Given the description of an element on the screen output the (x, y) to click on. 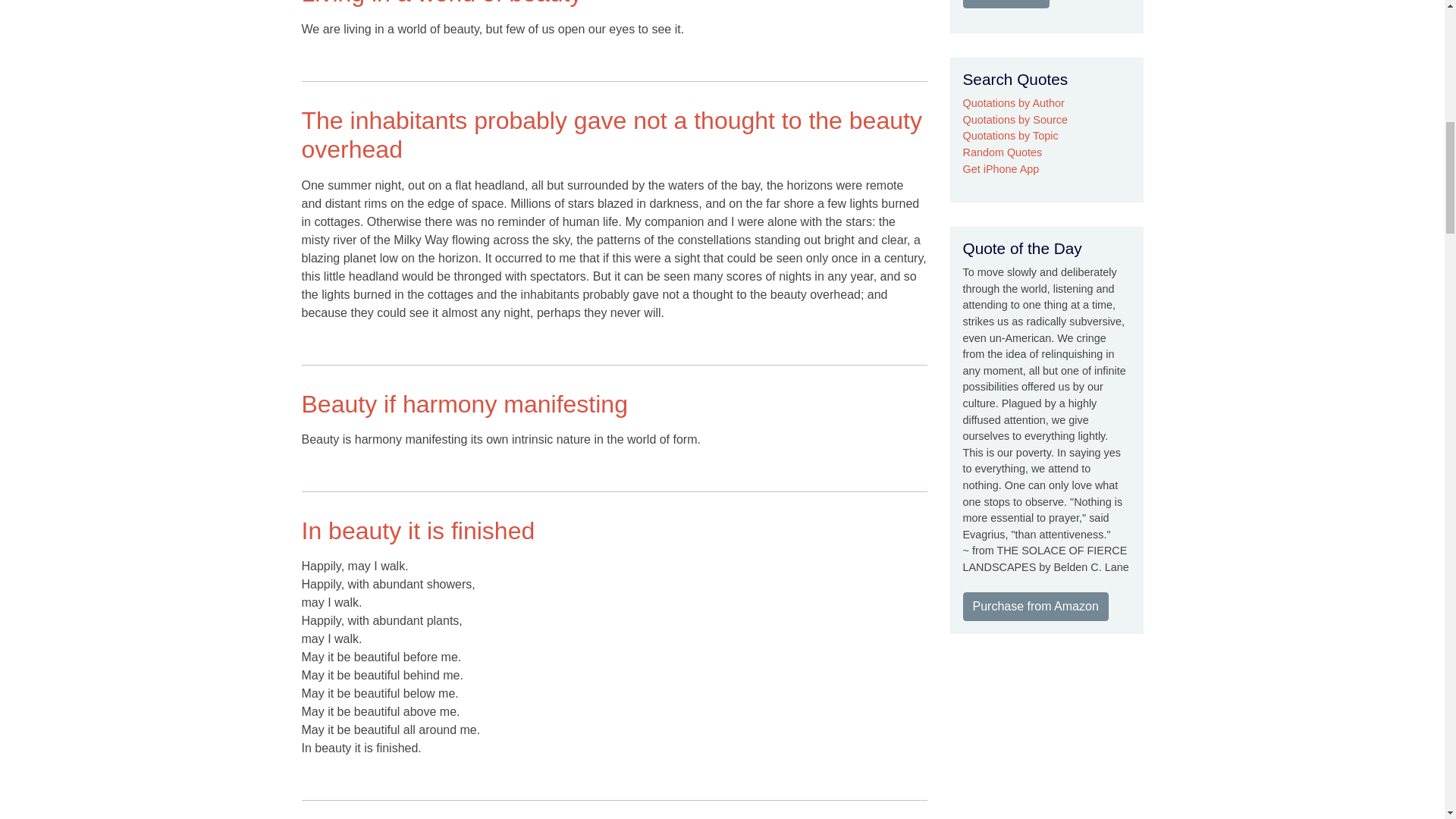
Living in a world of beauty (441, 3)
In beauty it is finished (418, 530)
Beauty if harmony manifesting (464, 403)
